Given the description of an element on the screen output the (x, y) to click on. 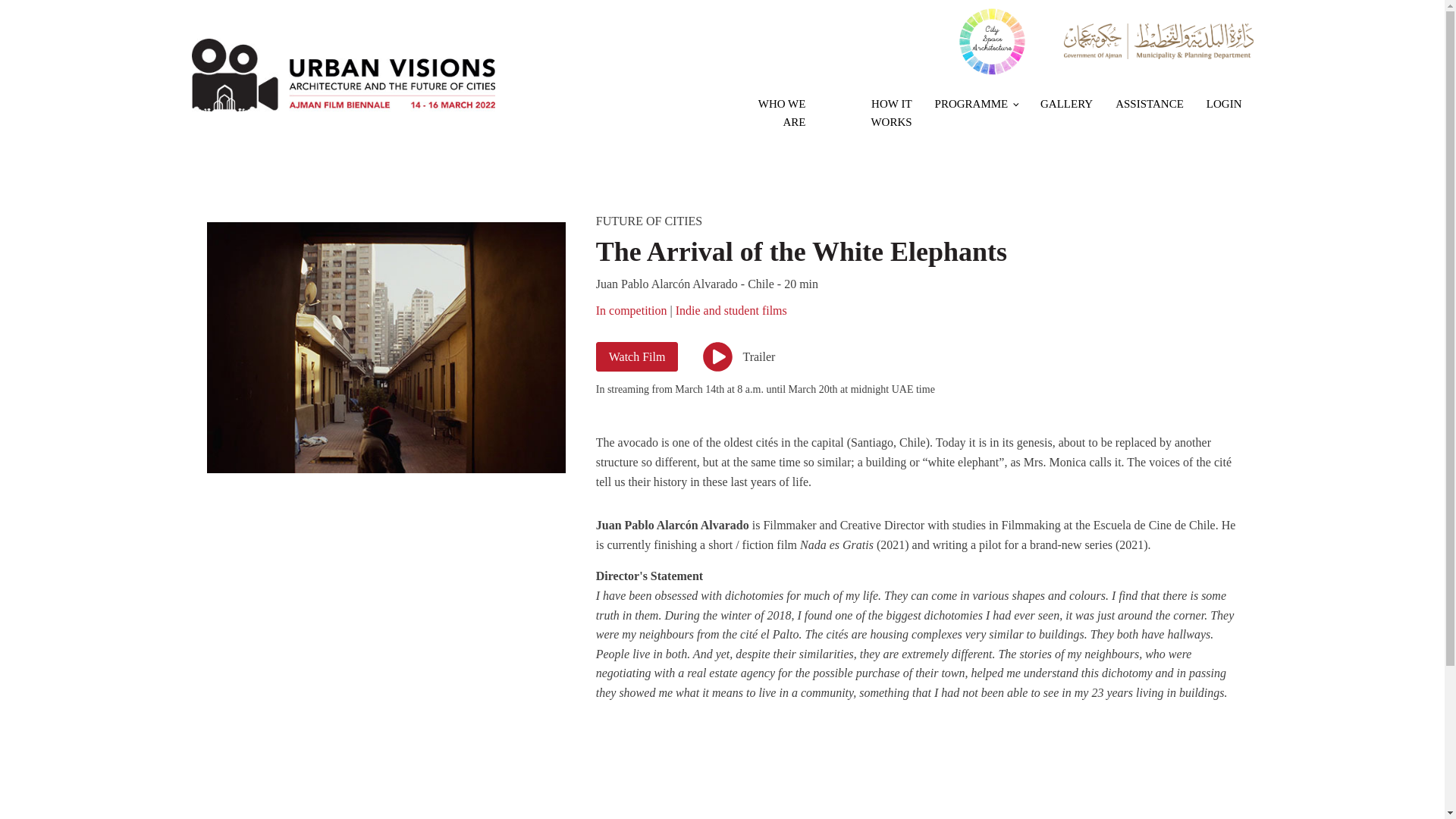
LOGIN (1224, 103)
WHO WE ARE (769, 112)
PROGRAMME (976, 103)
In competition (630, 309)
GALLERY (1066, 103)
ASSISTANCE (1149, 103)
Watch Film (636, 357)
HOW IT WORKS (869, 112)
Indie and student films (731, 309)
